Given the description of an element on the screen output the (x, y) to click on. 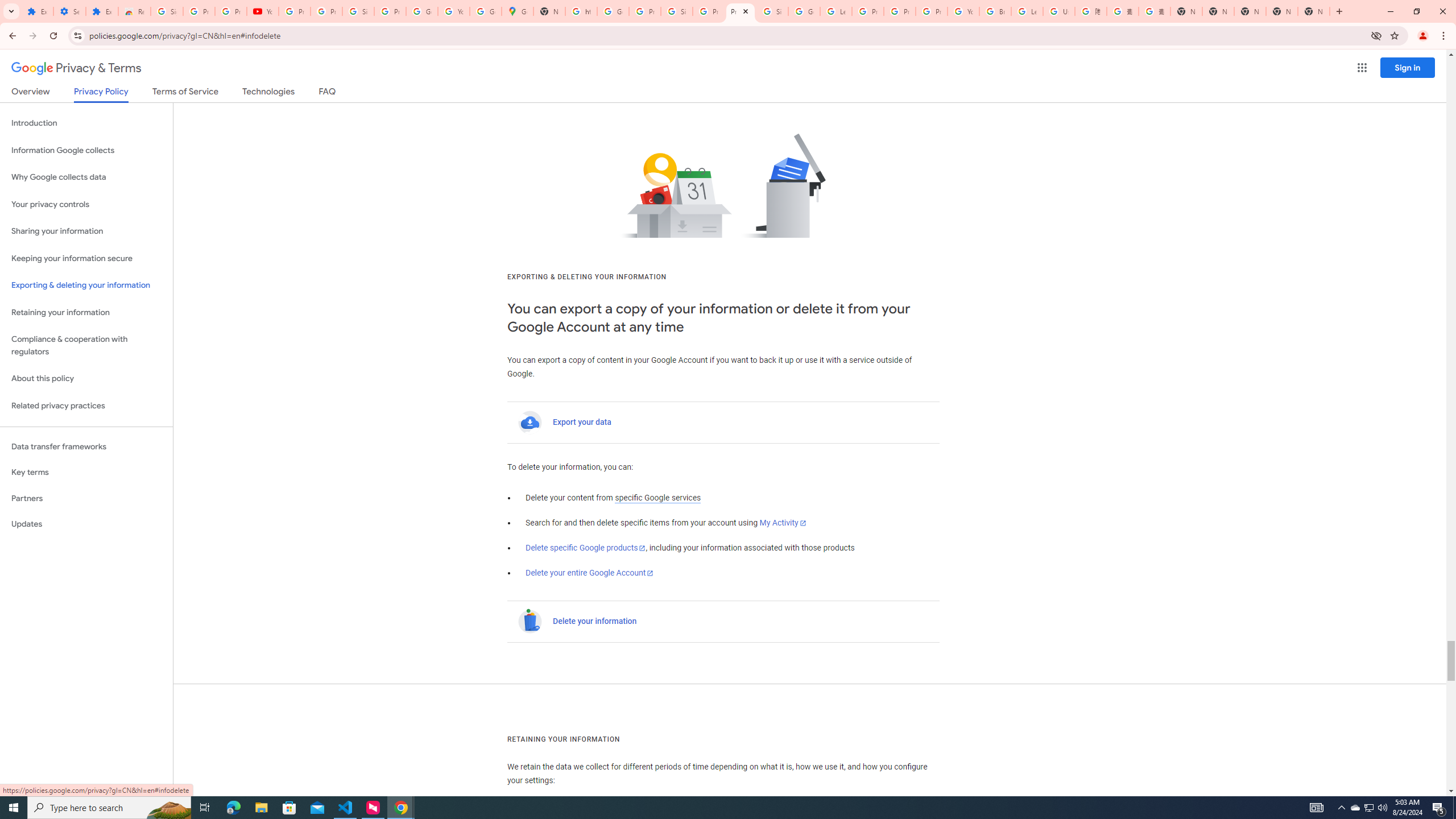
YouTube (262, 11)
https://scholar.google.com/ (581, 11)
Delete your entire Google Account (589, 573)
Sharing your information (86, 230)
Privacy Help Center - Policies Help (899, 11)
specific Google services (657, 498)
